Given the description of an element on the screen output the (x, y) to click on. 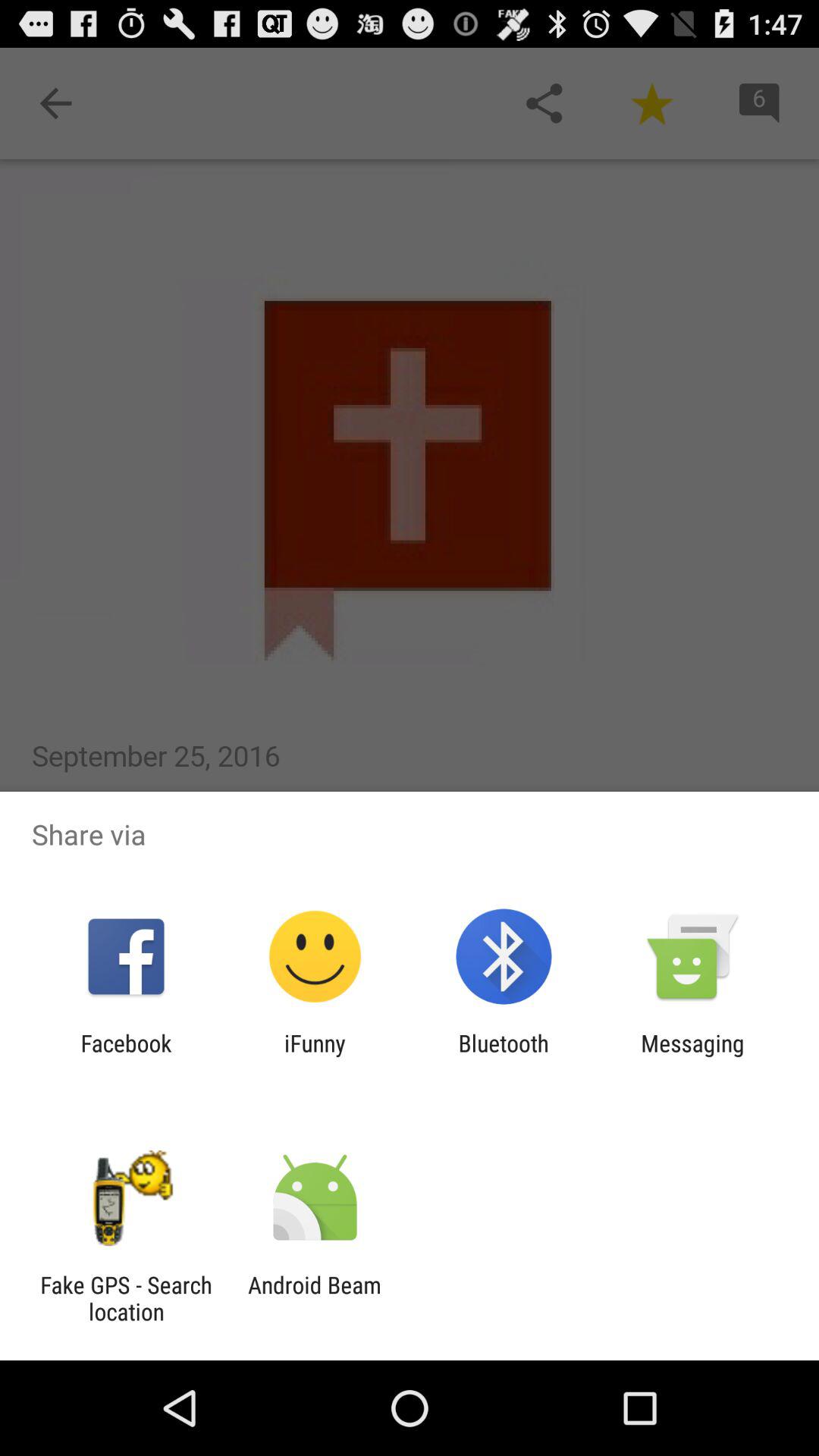
turn on bluetooth (503, 1056)
